Given the description of an element on the screen output the (x, y) to click on. 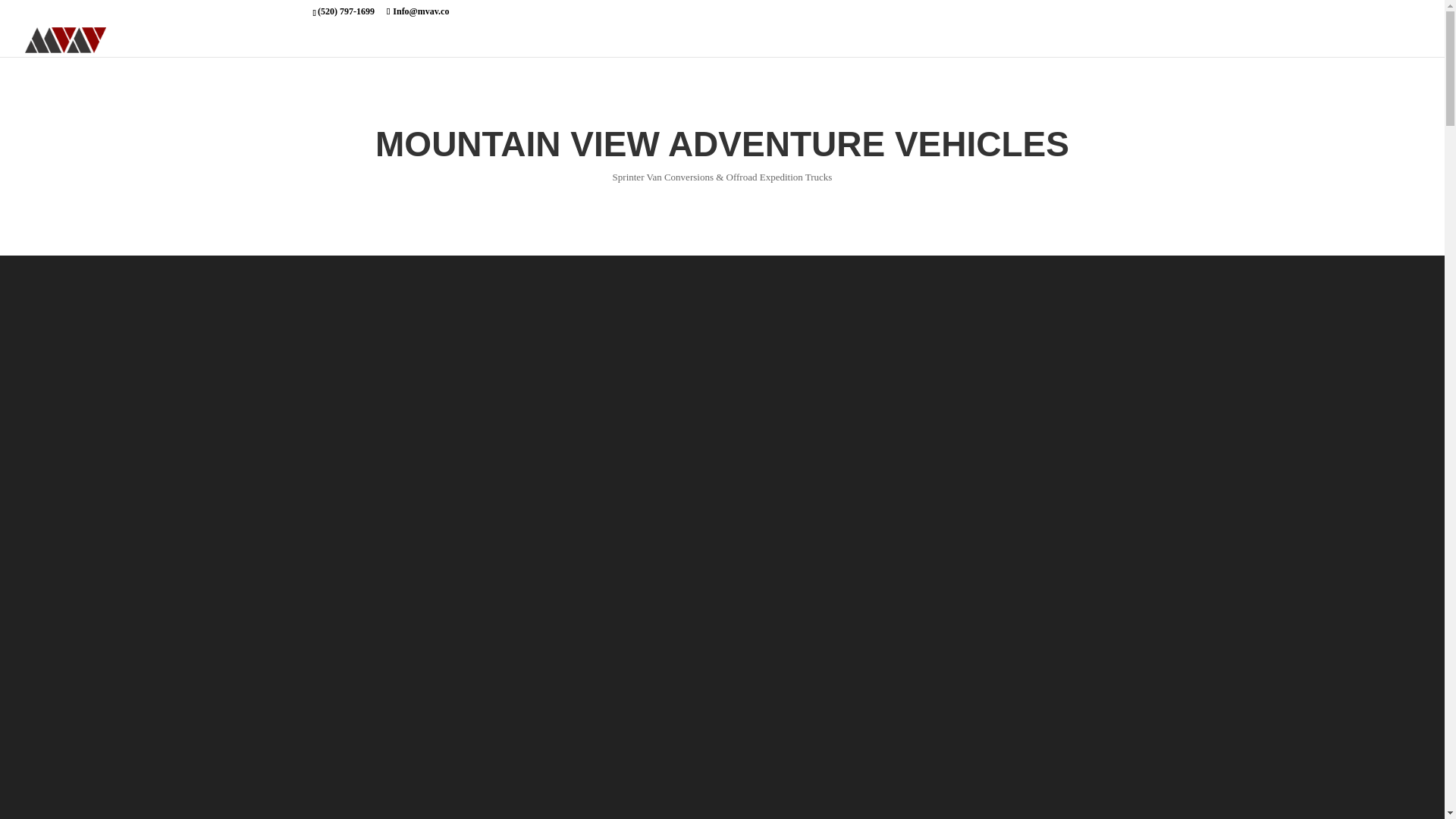
CONTACT (1395, 45)
CONVERSION VANS (1100, 45)
ABOUT US (1324, 45)
EXPEDITION TRUCKS (1224, 45)
